Given the description of an element on the screen output the (x, y) to click on. 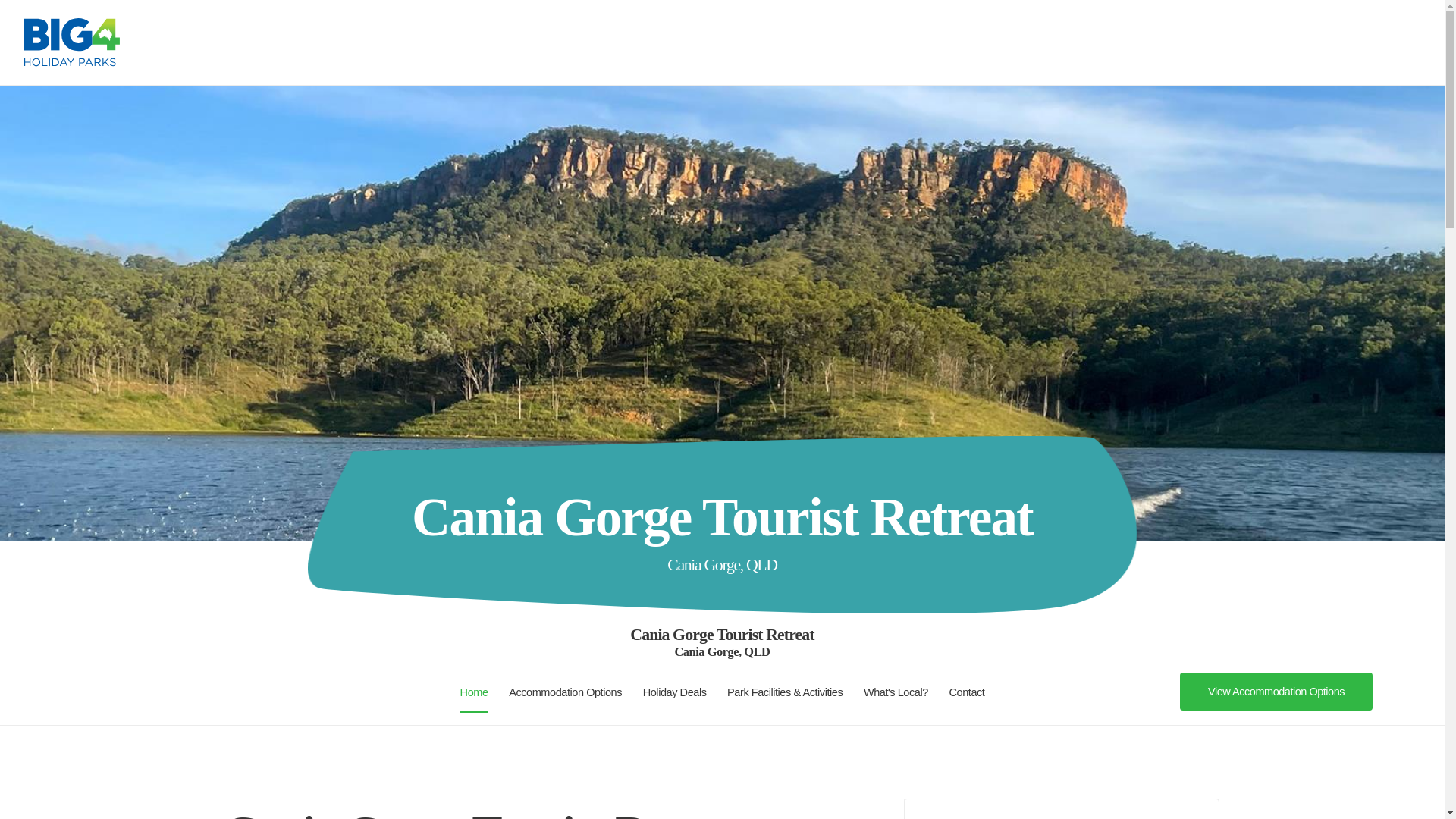
Contact (966, 692)
Holiday Deals (674, 692)
Accommodation Options (564, 692)
Home (473, 692)
What's Local? (895, 692)
View Accommodation Options (1275, 691)
